Given the description of an element on the screen output the (x, y) to click on. 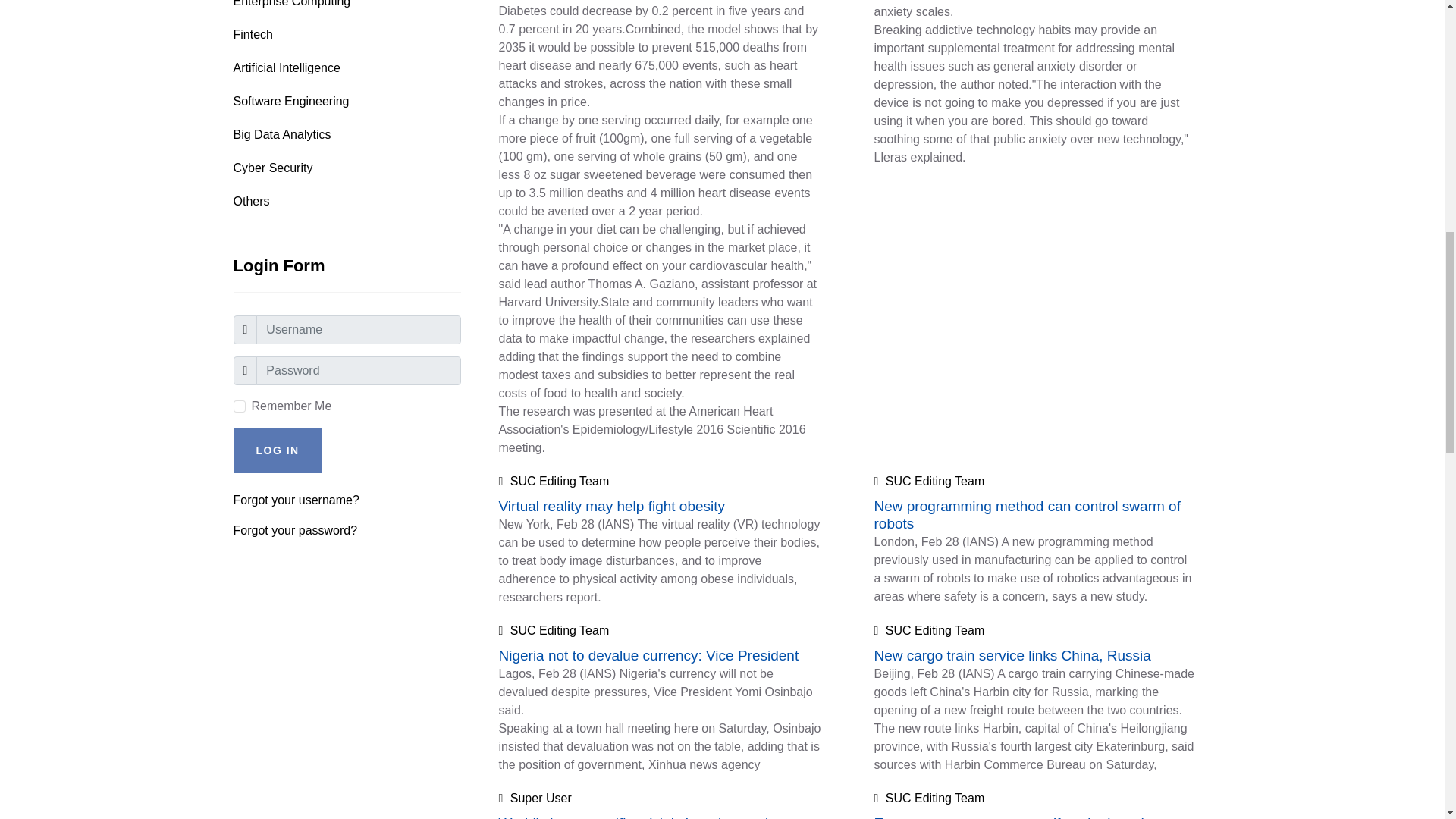
yes (239, 406)
Written by: SUC Editing Team (928, 481)
Written by: SUC Editing Team (554, 481)
